Given the description of an element on the screen output the (x, y) to click on. 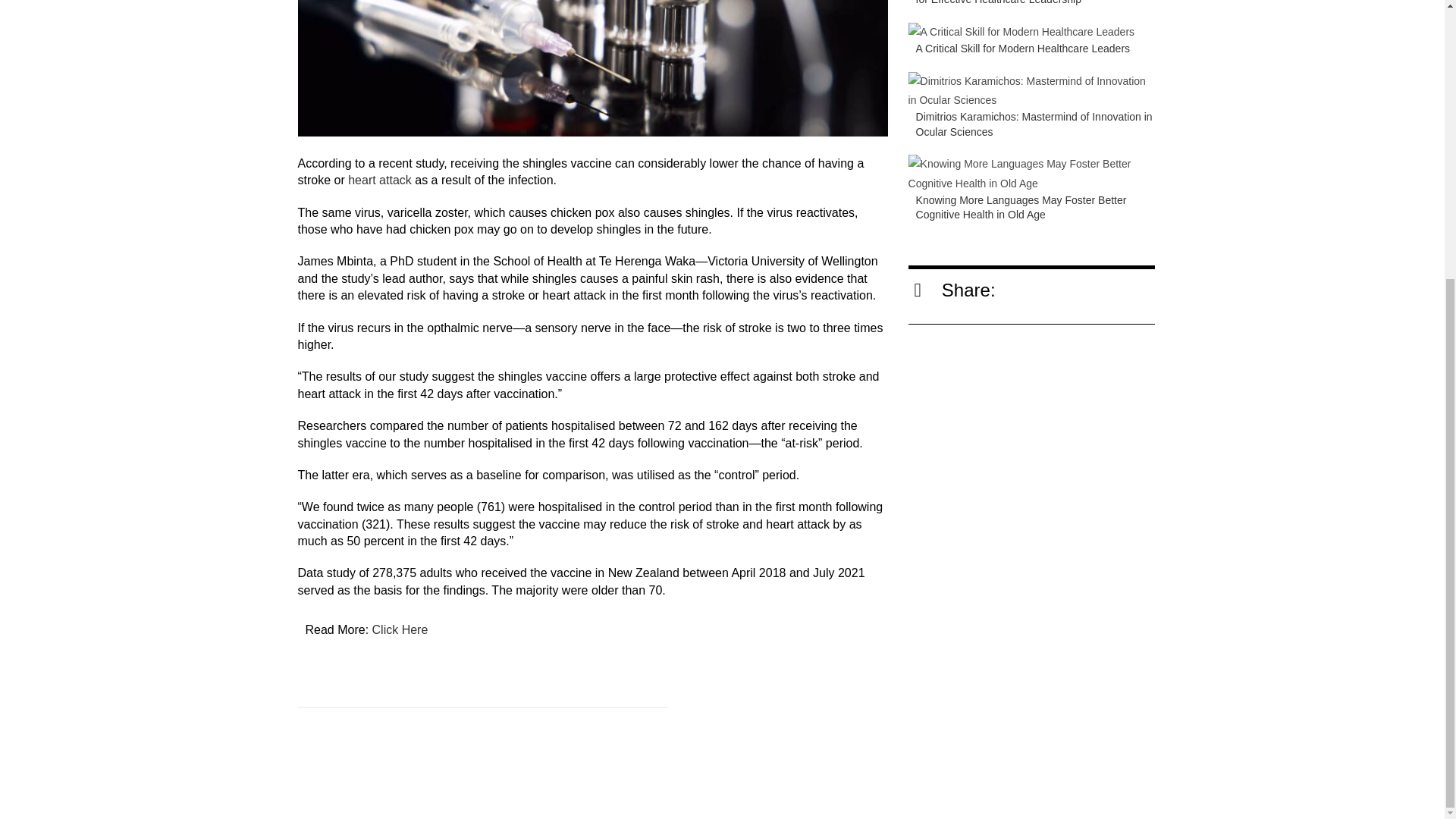
Click Here (400, 629)
heart attack (379, 179)
A Critical Skill for Modern Healthcare Leaders (1022, 48)
A Critical Skill for Modern Healthcare Leaders (1022, 48)
